Given the description of an element on the screen output the (x, y) to click on. 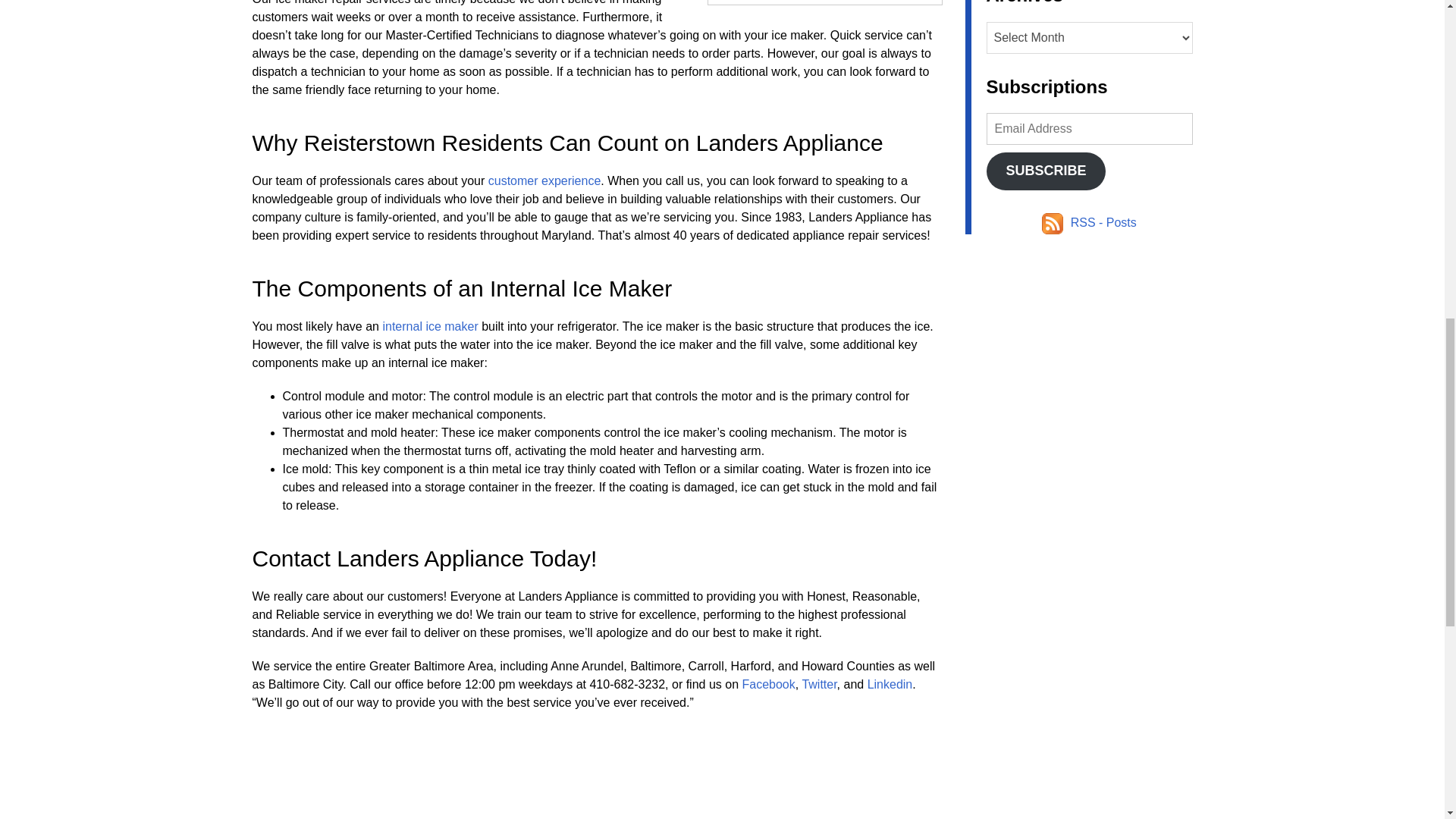
Subscribe to posts (1089, 222)
